Given the description of an element on the screen output the (x, y) to click on. 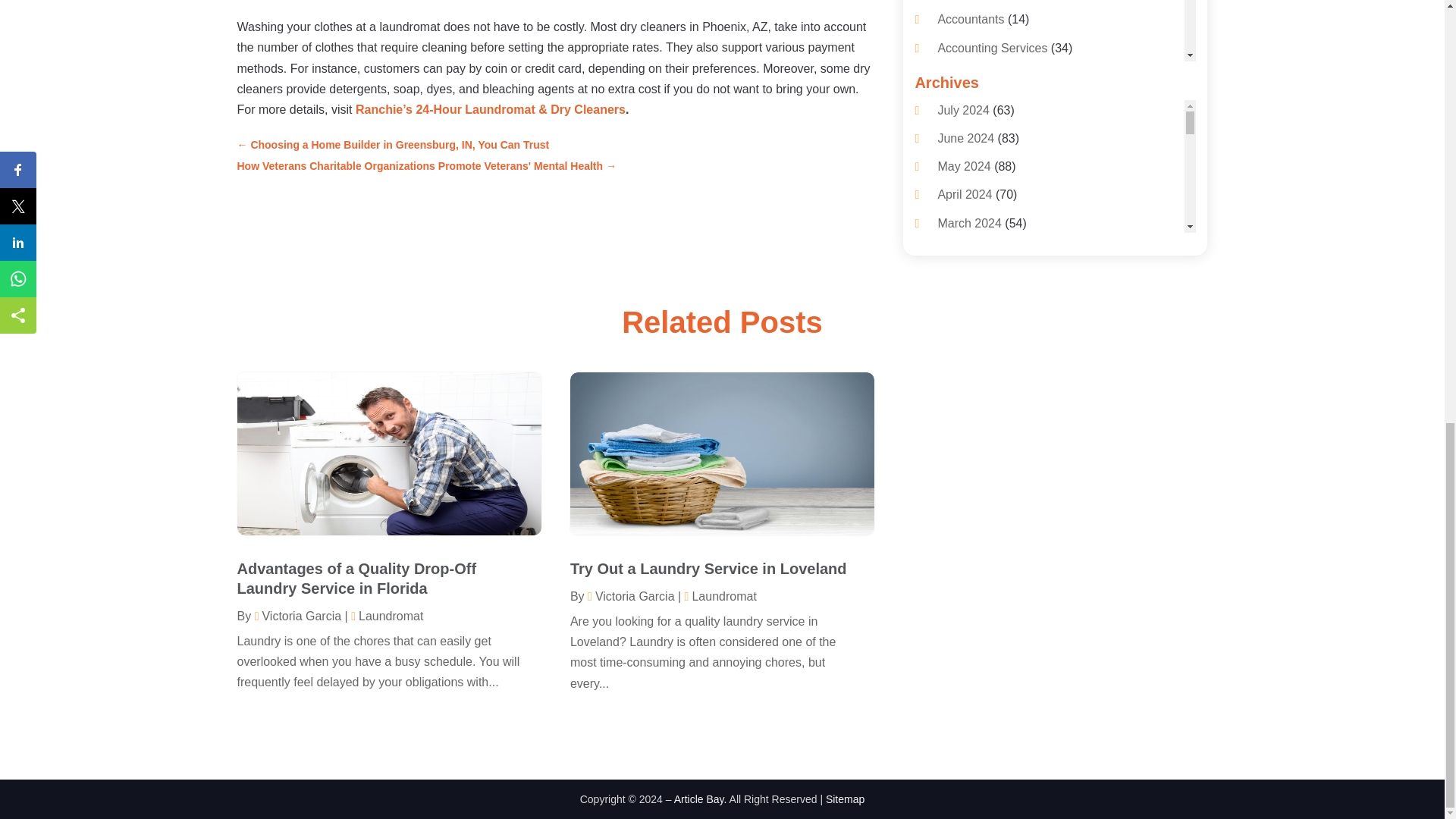
Adventures (967, 188)
Accounting Services (991, 47)
Posts by Victoria Garcia (631, 595)
Adoption (961, 132)
Accountants (970, 19)
Acupuncture (971, 75)
Posts by Victoria Garcia (297, 615)
Advertising Agency (989, 245)
Agencies (962, 273)
Adult Care (965, 160)
Addiction Treatment Center (1010, 103)
